Given the description of an element on the screen output the (x, y) to click on. 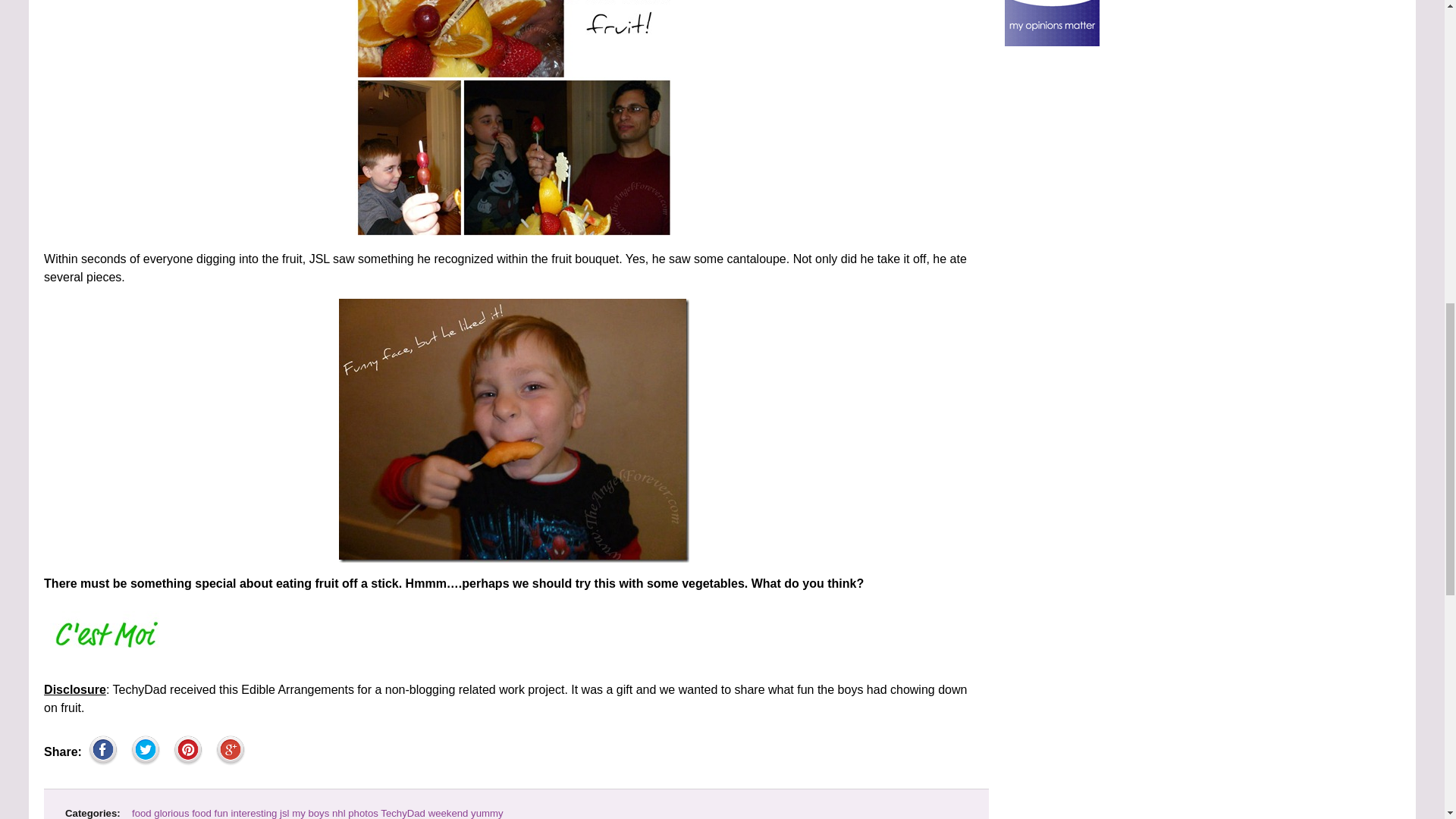
It's Me (106, 633)
nhl (338, 813)
food glorious food (171, 813)
fun (221, 813)
weekend (448, 813)
photos (362, 813)
TechyDad (402, 813)
interesting (254, 813)
Loving fruit on a stick (513, 430)
yummy (486, 813)
Time to eat the fruit (513, 119)
my boys (310, 813)
